Given the description of an element on the screen output the (x, y) to click on. 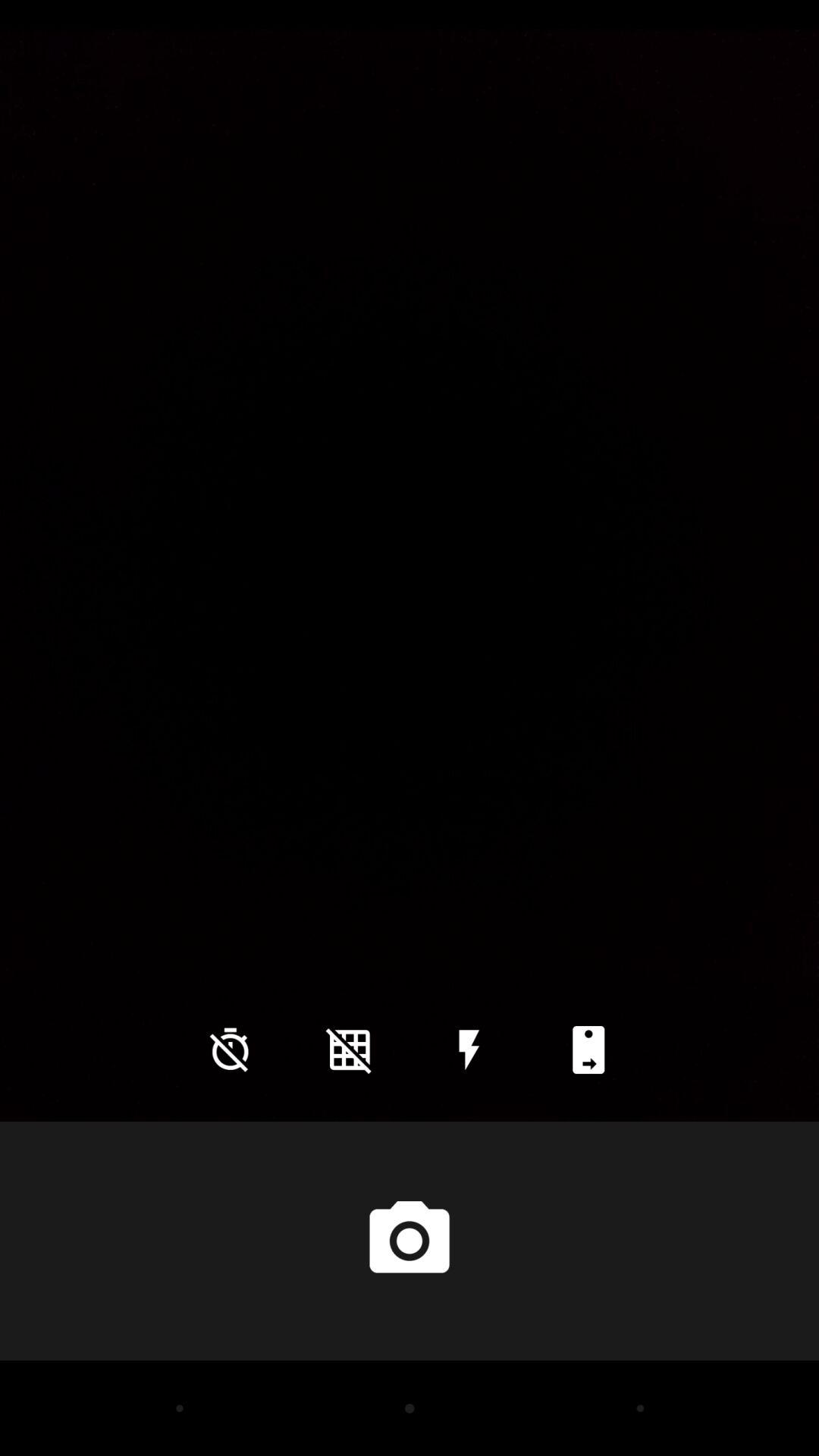
choose the item at the bottom left corner (230, 1049)
